Given the description of an element on the screen output the (x, y) to click on. 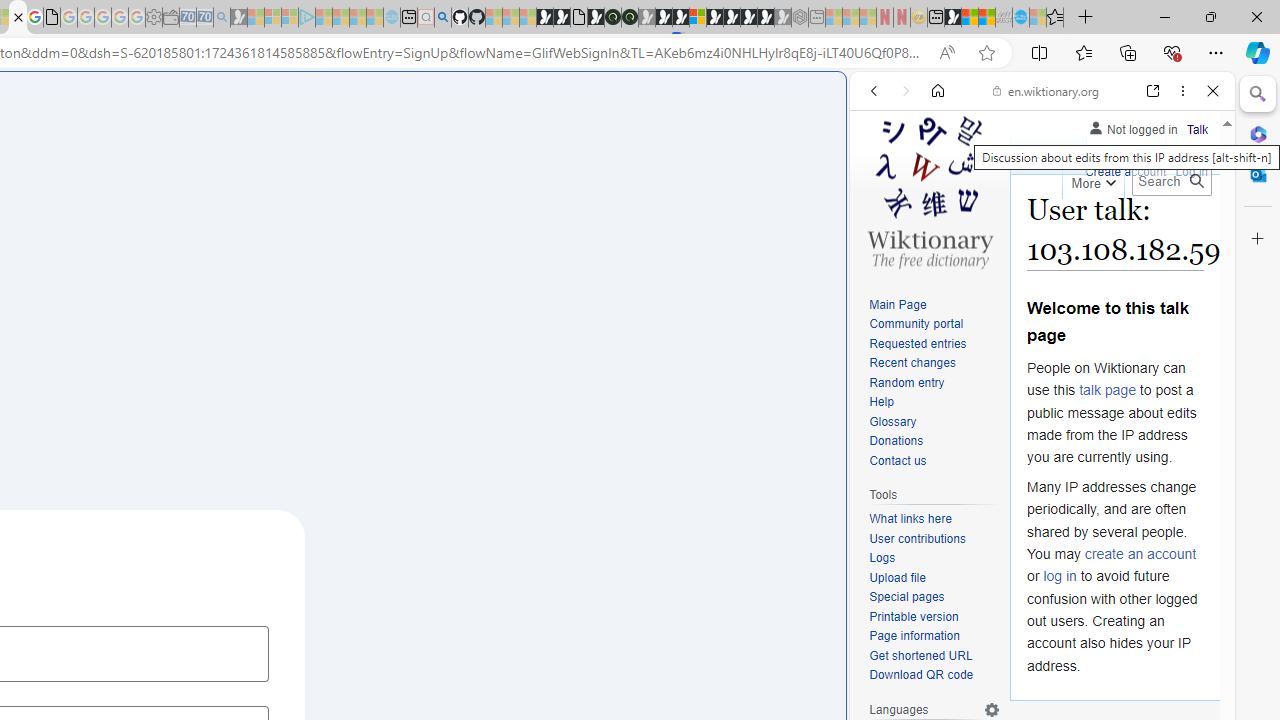
Random entry (934, 382)
Not logged in (1132, 126)
github - Search (442, 17)
What links here (934, 519)
Random entry (906, 382)
Printable version (913, 616)
